Given the description of an element on the screen output the (x, y) to click on. 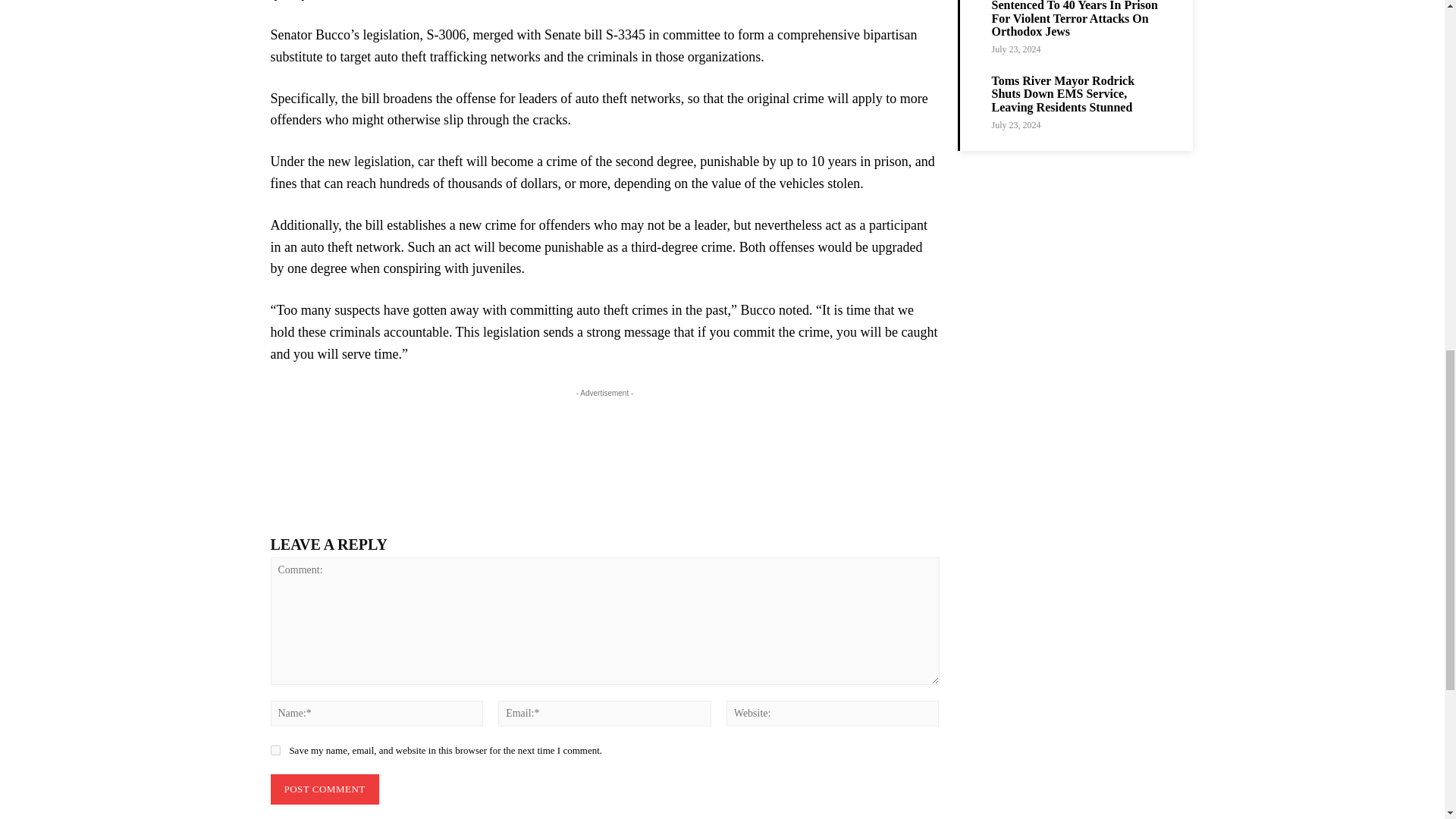
Post Comment (323, 788)
yes (274, 750)
